Given the description of an element on the screen output the (x, y) to click on. 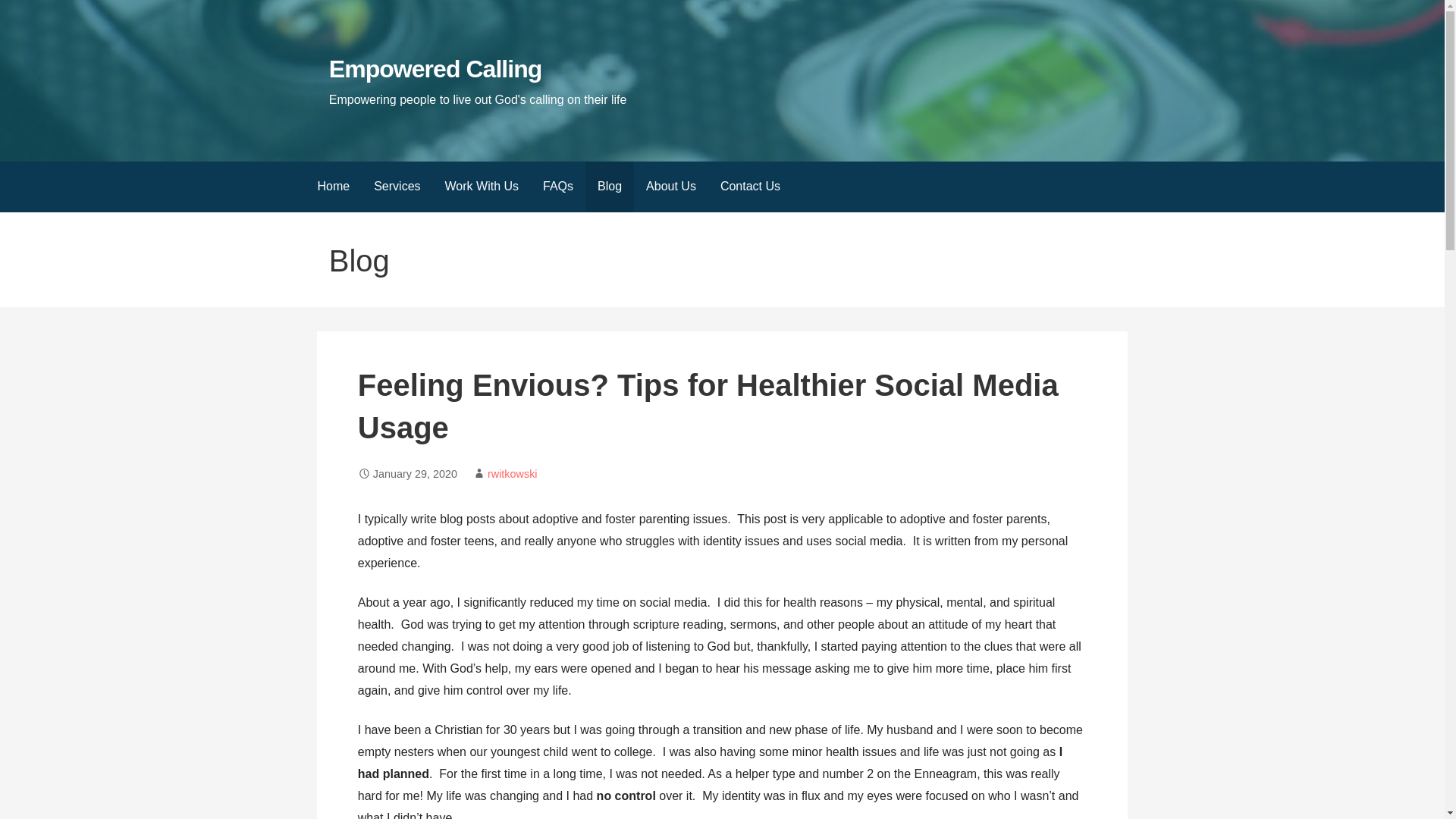
Work With Us (481, 186)
rwitkowski (512, 473)
Blog (609, 186)
Contact Us (749, 186)
Posts by rwitkowski (512, 473)
FAQs (558, 186)
About Us (670, 186)
Empowered Calling (435, 68)
Home (332, 186)
Services (396, 186)
